Given the description of an element on the screen output the (x, y) to click on. 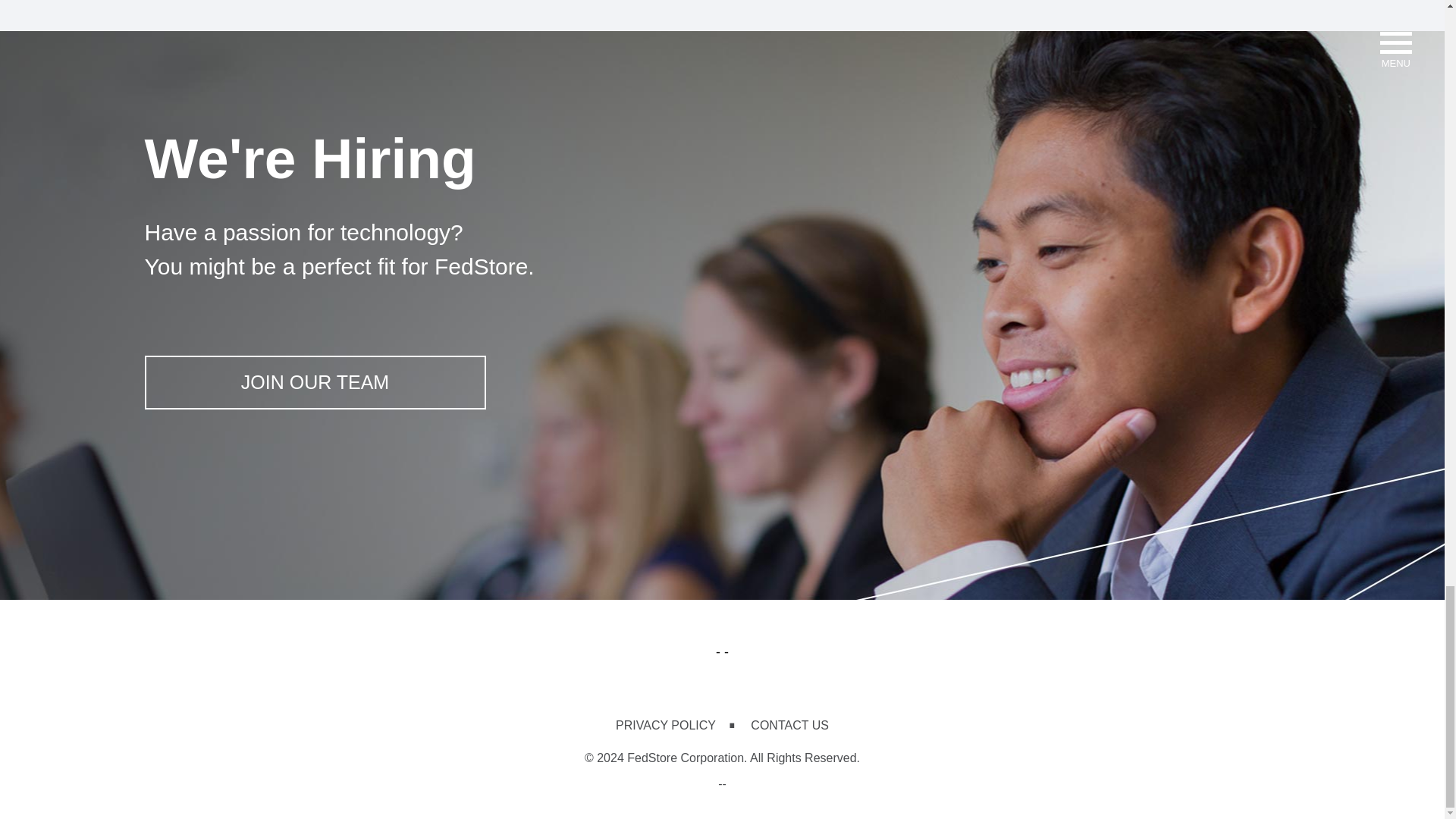
JOIN OUR TEAM (314, 382)
CONTACT US (789, 725)
PRIVACY POLICY (665, 725)
